Given the description of an element on the screen output the (x, y) to click on. 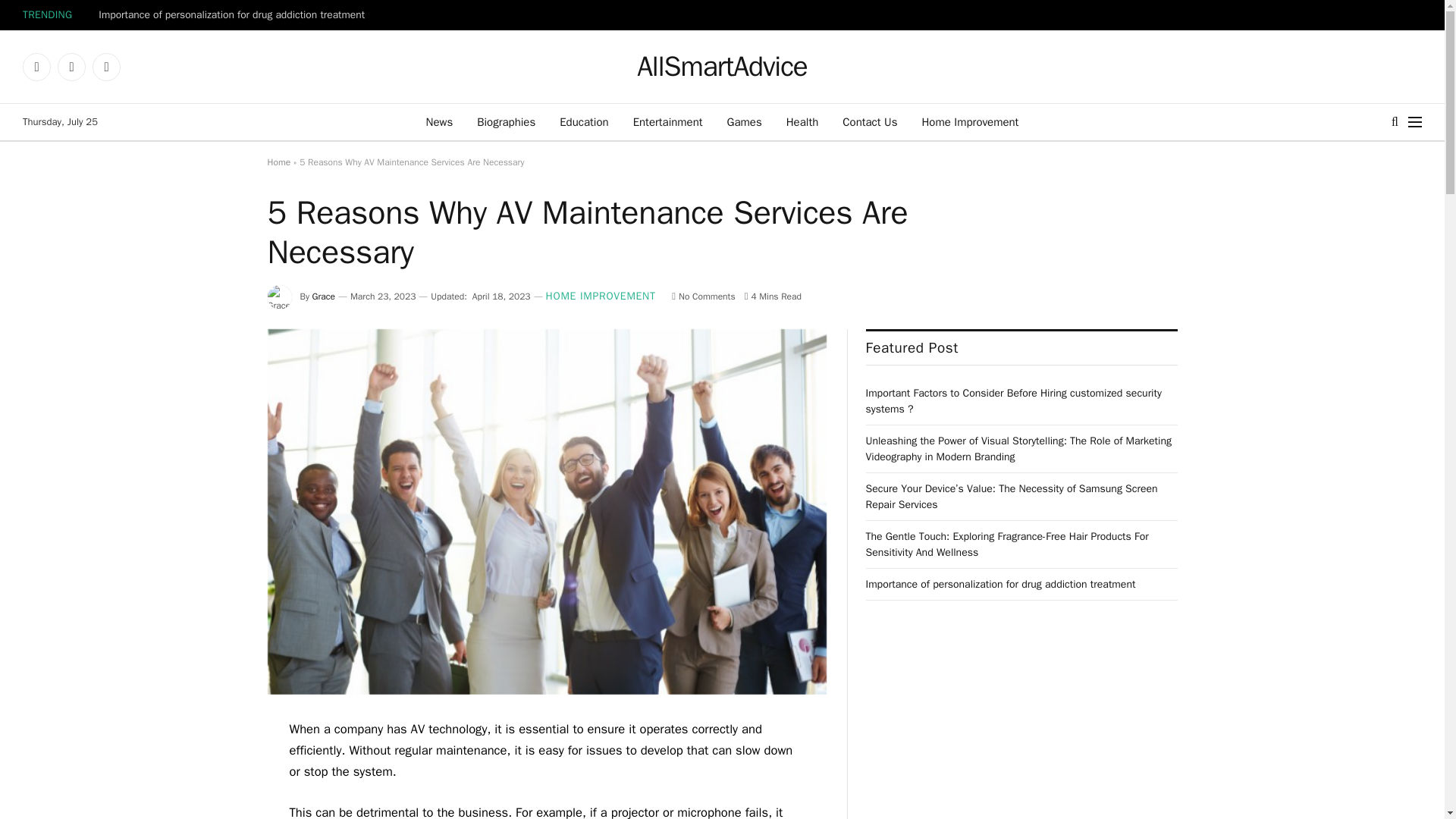
allsmartadvice (722, 66)
Home Improvement (969, 122)
Biographies (505, 122)
Contact Us (868, 122)
Health (802, 122)
News (439, 122)
Importance of personalization for drug addiction treatment  (237, 15)
Education (583, 122)
Entertainment (667, 122)
Games (744, 122)
AllSmartAdvice (722, 66)
Instagram (106, 67)
HOME IMPROVEMENT (601, 296)
Posts by Grace (323, 296)
Grace (323, 296)
